Given the description of an element on the screen output the (x, y) to click on. 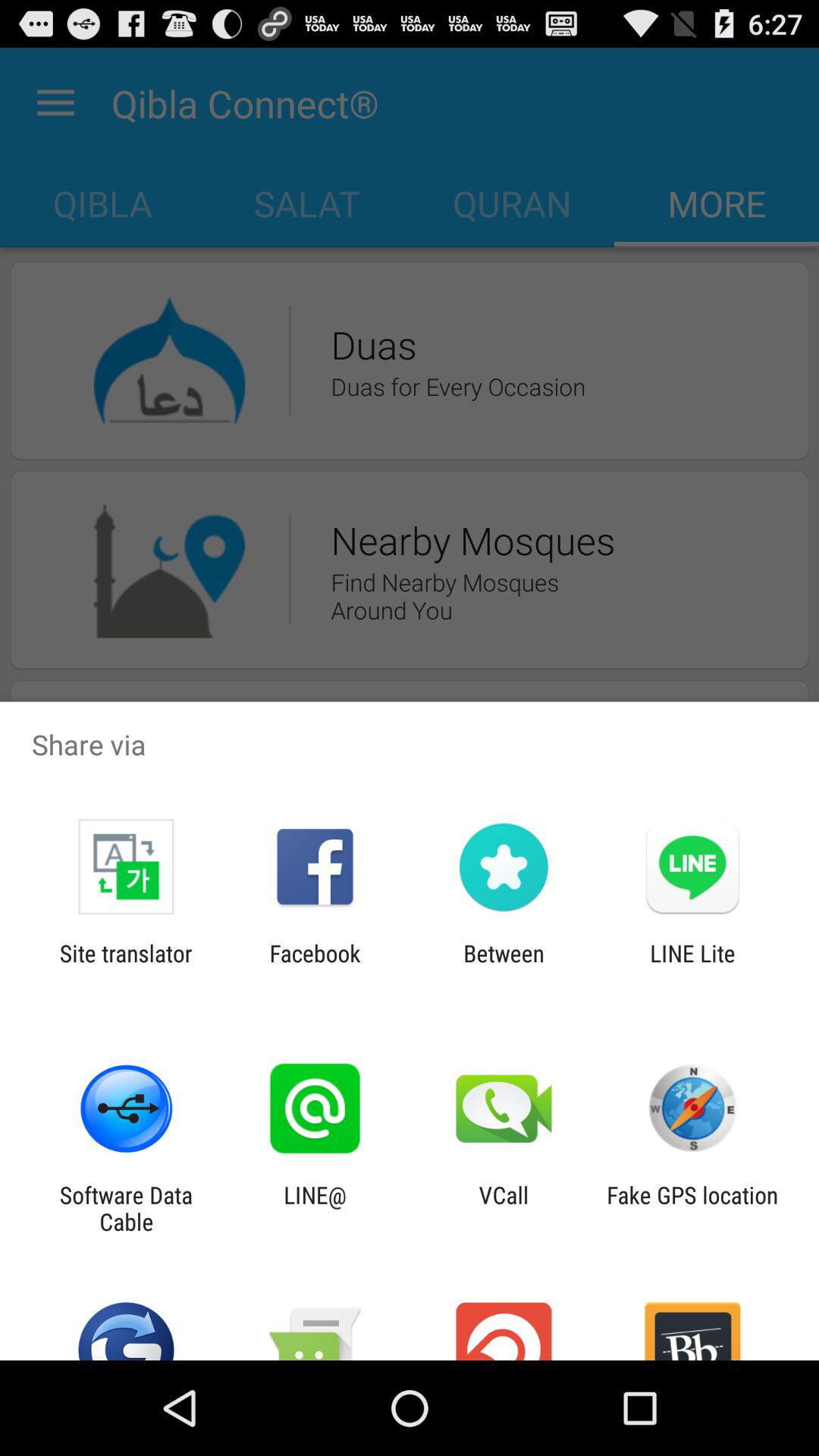
click icon next to site translator app (314, 966)
